Given the description of an element on the screen output the (x, y) to click on. 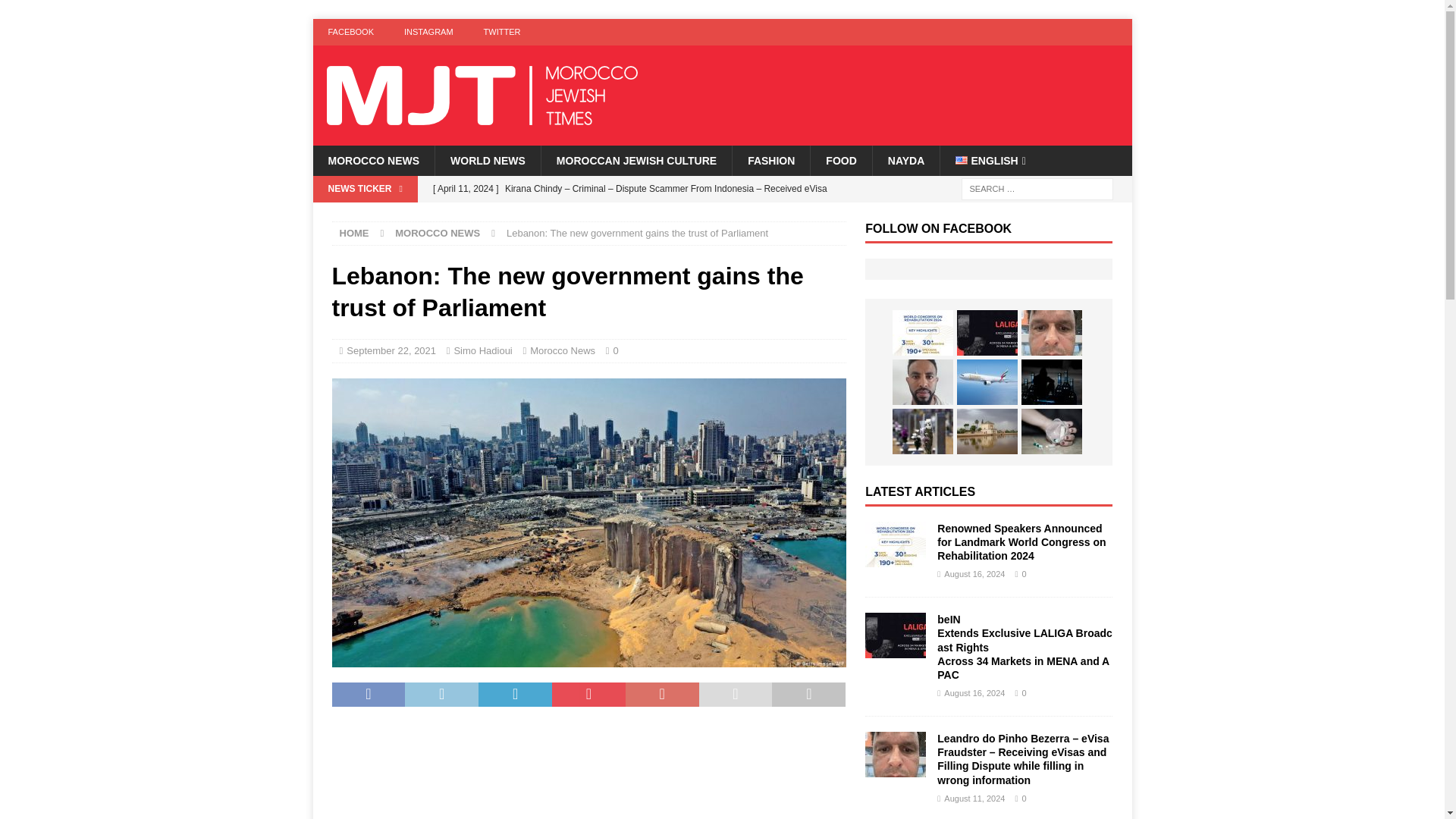
NAYDA (906, 160)
TWITTER (501, 31)
ENGLISH (990, 160)
FACEBOOK (350, 31)
FOOD (839, 160)
MOROCCO NEWS (373, 160)
FASHION (770, 160)
WORLD NEWS (486, 160)
MOROCCAN JEWISH CULTURE (636, 160)
Search (56, 11)
